Given the description of an element on the screen output the (x, y) to click on. 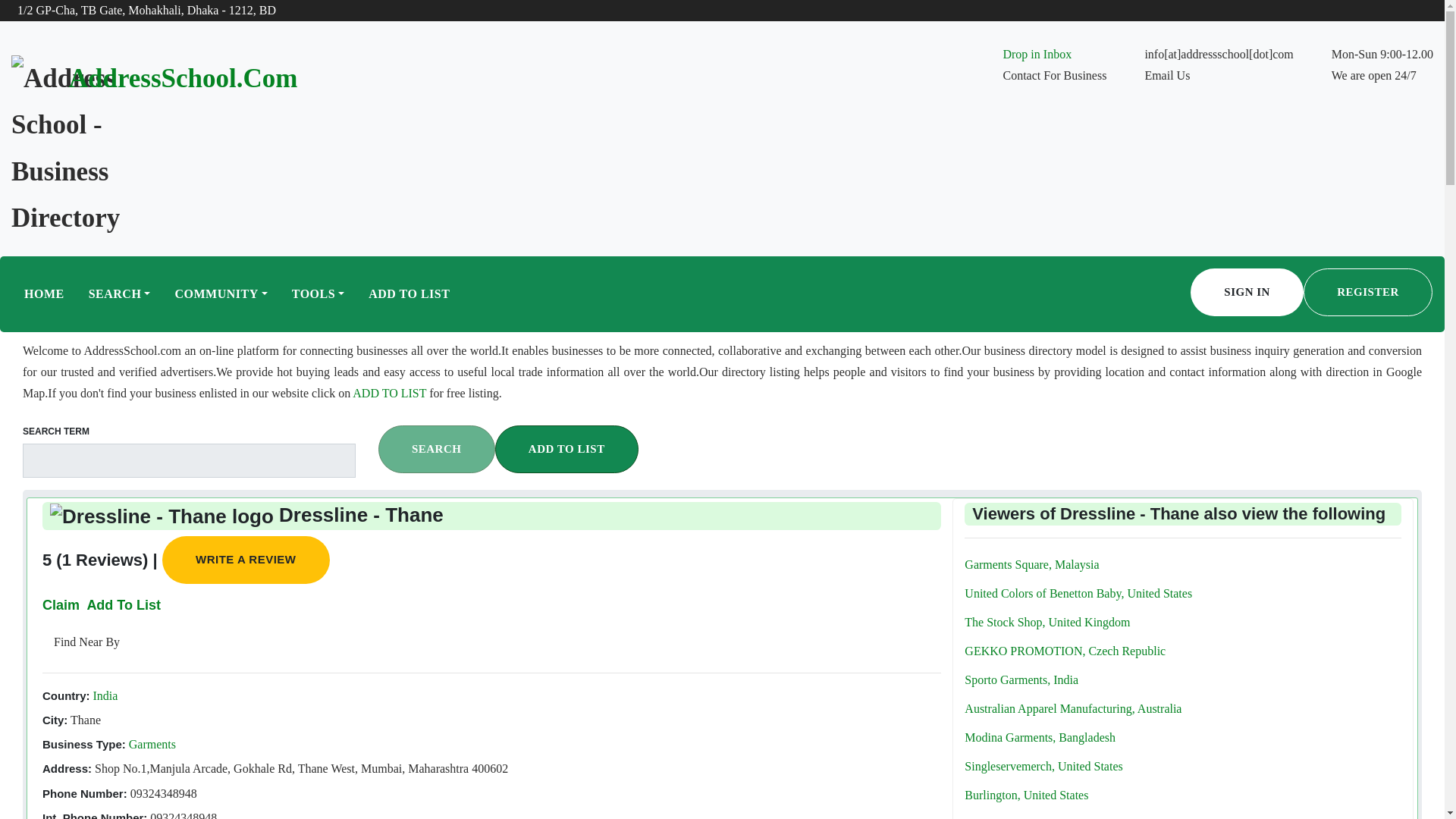
REGISTER (1367, 292)
Search (436, 449)
Add To List (122, 604)
ADD TO LIST (567, 449)
AddressSchool.Com (183, 78)
Add Free Listing (122, 604)
HOME (44, 294)
SEARCH (120, 294)
HOME (44, 294)
SEARCH (436, 449)
Garments (150, 744)
ADD TO LIST (408, 294)
ADD TO LIST (390, 392)
ADD TO LIST (408, 294)
India (102, 695)
